Given the description of an element on the screen output the (x, y) to click on. 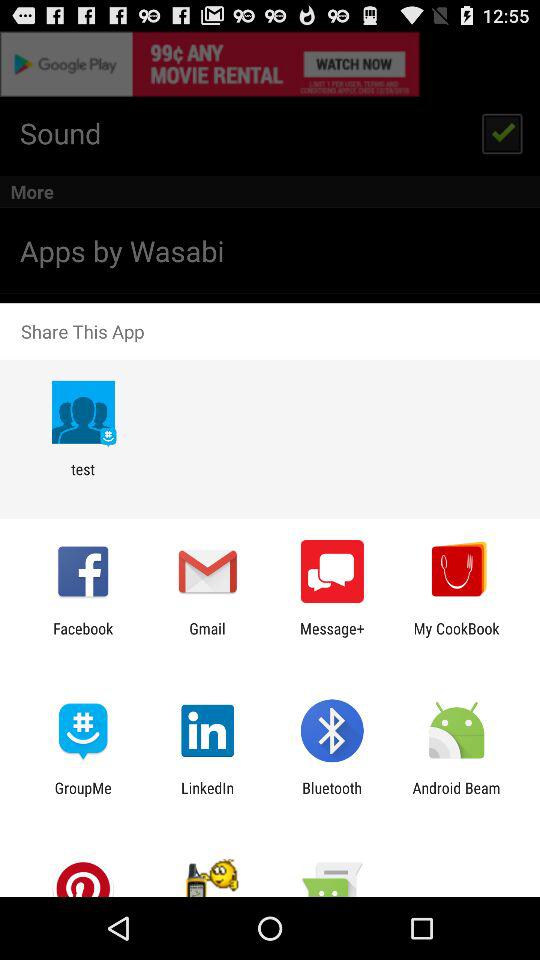
flip to test app (82, 478)
